Given the description of an element on the screen output the (x, y) to click on. 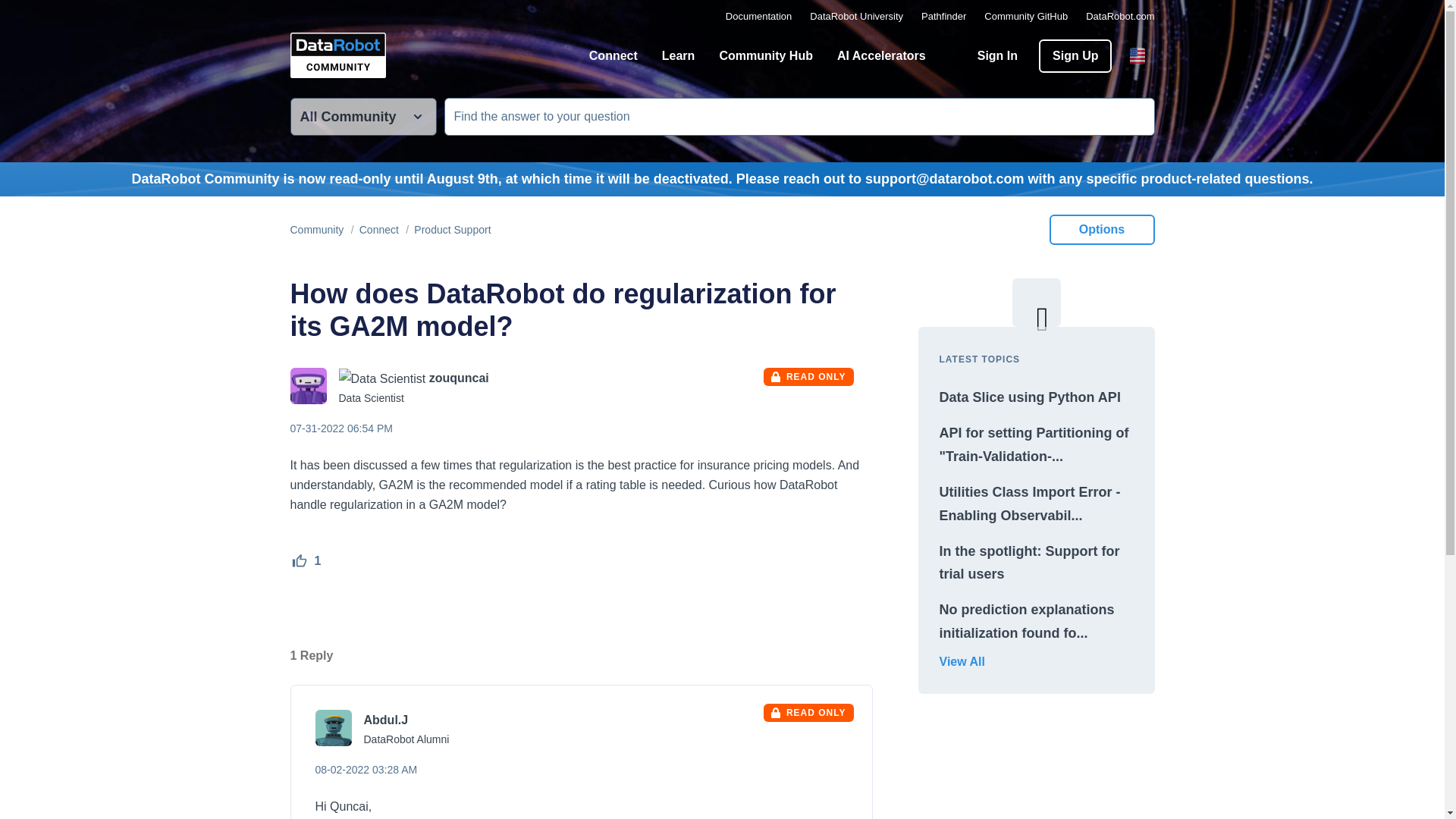
Sign Up (1075, 55)
Search (1136, 116)
Connect (612, 55)
Pathfinder (943, 16)
Sign In (996, 55)
Community GitHub (1025, 16)
Community Hub (765, 55)
Search (1136, 116)
Search Granularity (362, 116)
Documentation (758, 16)
DataRobot.com (1120, 16)
DataRobot University (855, 16)
Learn (678, 55)
AI Accelerators (881, 55)
DataRobot Community (337, 54)
